Given the description of an element on the screen output the (x, y) to click on. 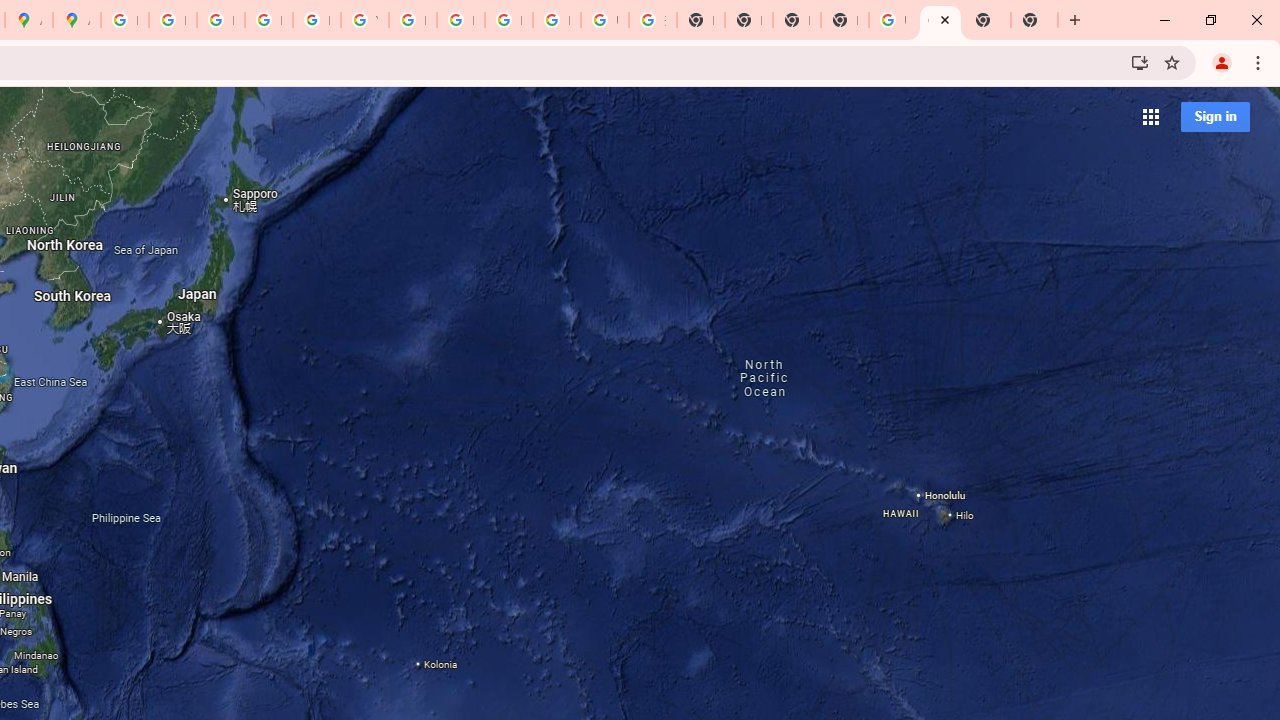
Sign in (1215, 115)
New Tab (844, 20)
Close (944, 19)
Browse Chrome as a guest - Computer - Google Chrome Help (508, 20)
Restore (1210, 20)
New Tab (987, 20)
Install Google Maps (1139, 62)
New Tab (1034, 20)
YouTube (364, 20)
Google Maps (939, 20)
